Given the description of an element on the screen output the (x, y) to click on. 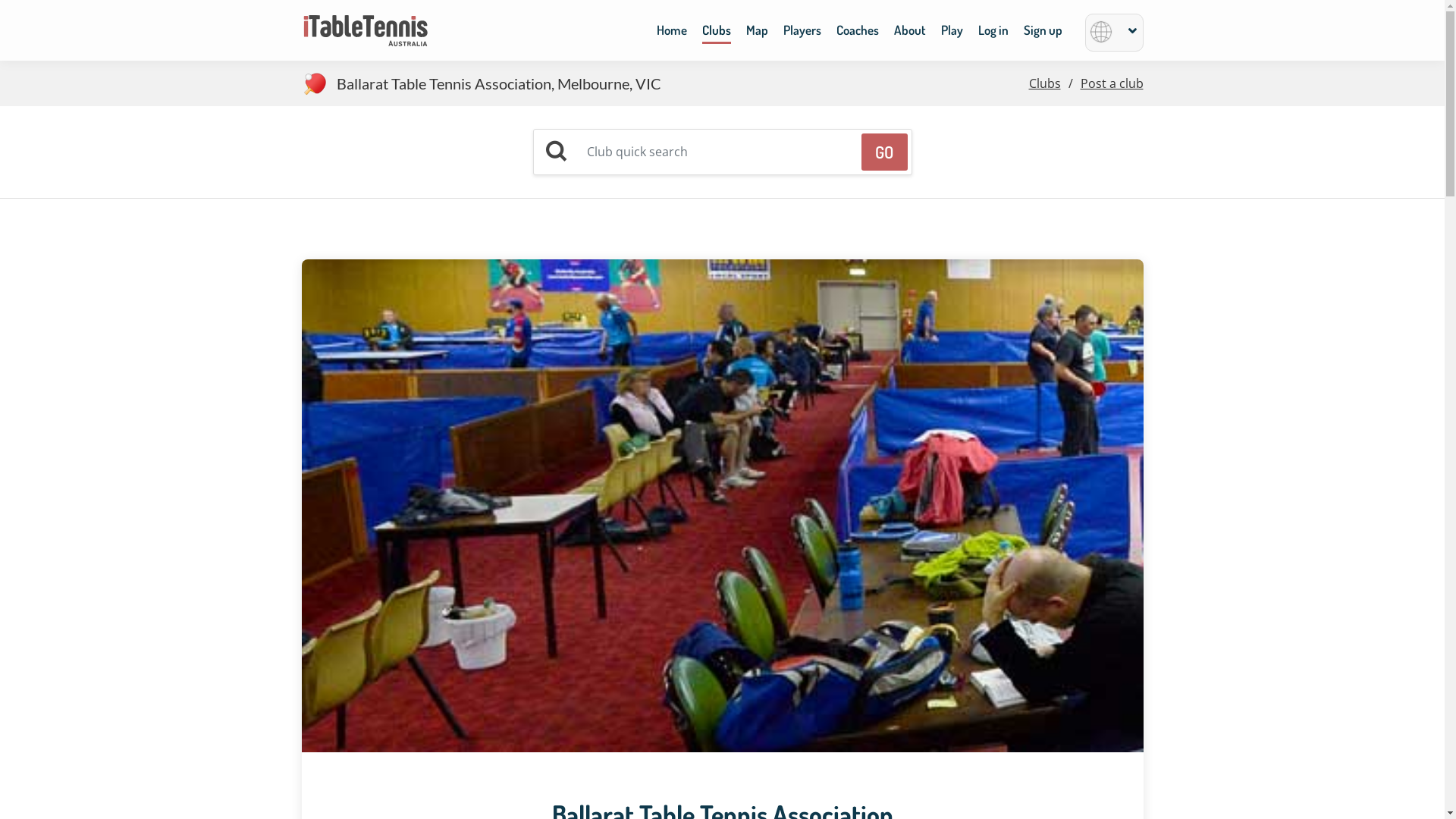
Map Element type: text (757, 33)
Players Element type: text (801, 33)
Clubs Element type: text (716, 34)
Coaches Element type: text (856, 33)
Clubs Element type: text (1044, 83)
Play Element type: text (951, 33)
Sign up Element type: text (1042, 33)
Log in Element type: text (993, 33)
About Element type: text (909, 33)
Home Element type: text (671, 33)
GO Element type: text (884, 151)
Post a club Element type: text (1110, 83)
